Given the description of an element on the screen output the (x, y) to click on. 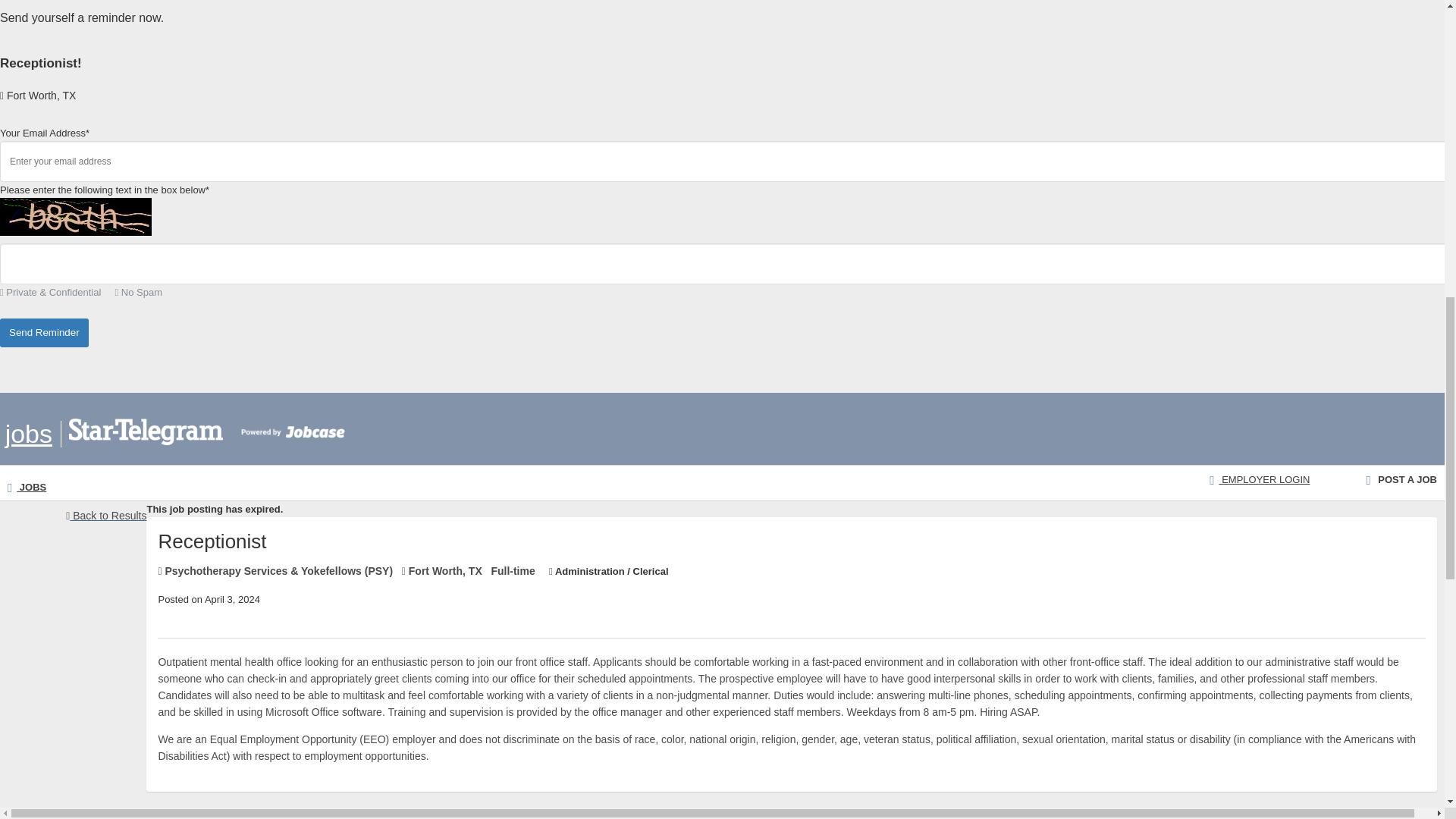
EMPLOYER LOGIN (1259, 479)
JOBS (26, 486)
Send Reminder (44, 333)
captcha (75, 216)
jobs (28, 433)
POST A JOB (1401, 479)
Back to Results (106, 515)
